Given the description of an element on the screen output the (x, y) to click on. 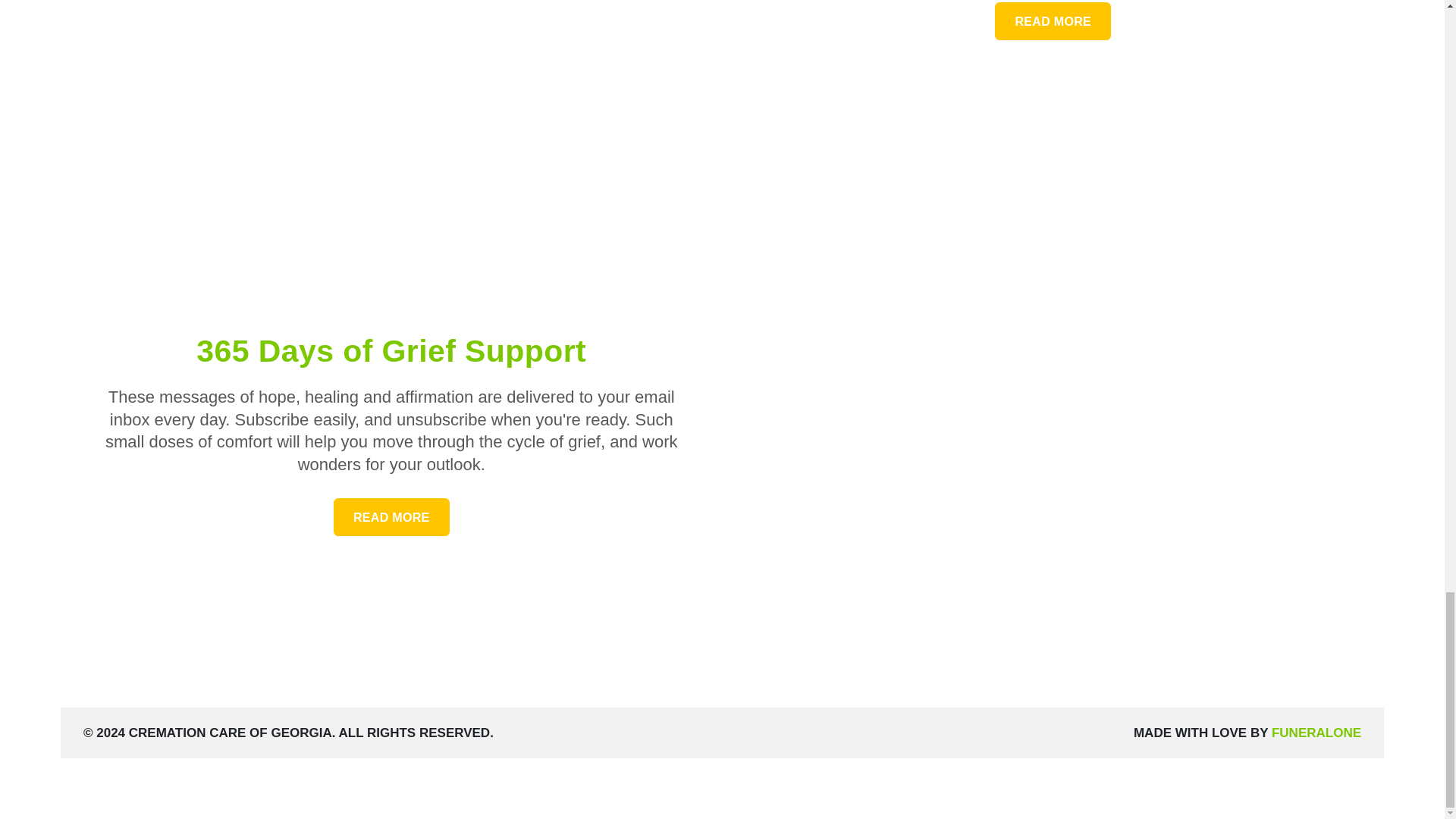
365 Days of Grief Support (391, 516)
FUNERALONE (391, 350)
